Given the description of an element on the screen output the (x, y) to click on. 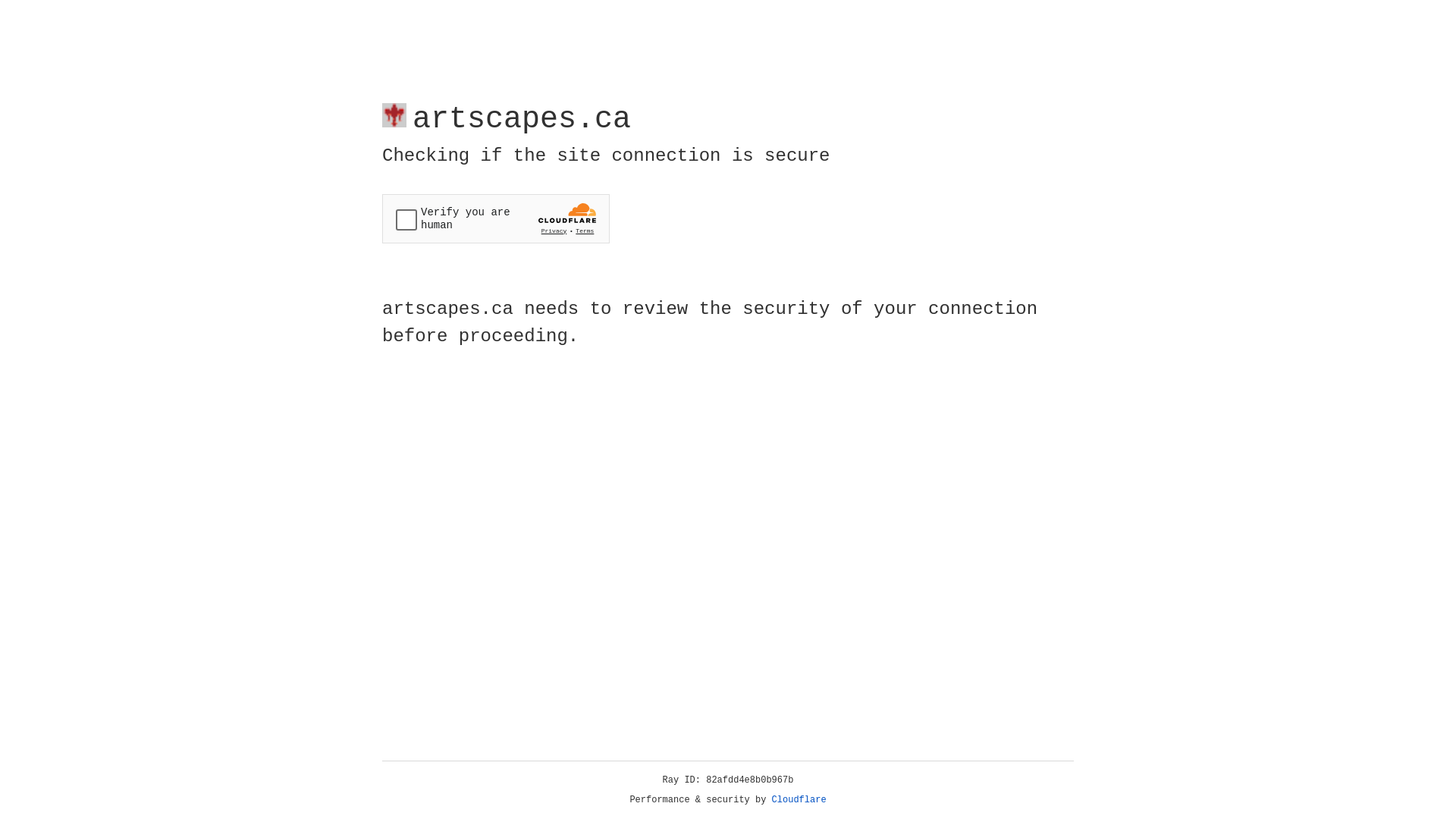
Cloudflare Element type: text (798, 799)
Widget containing a Cloudflare security challenge Element type: hover (495, 218)
